Given the description of an element on the screen output the (x, y) to click on. 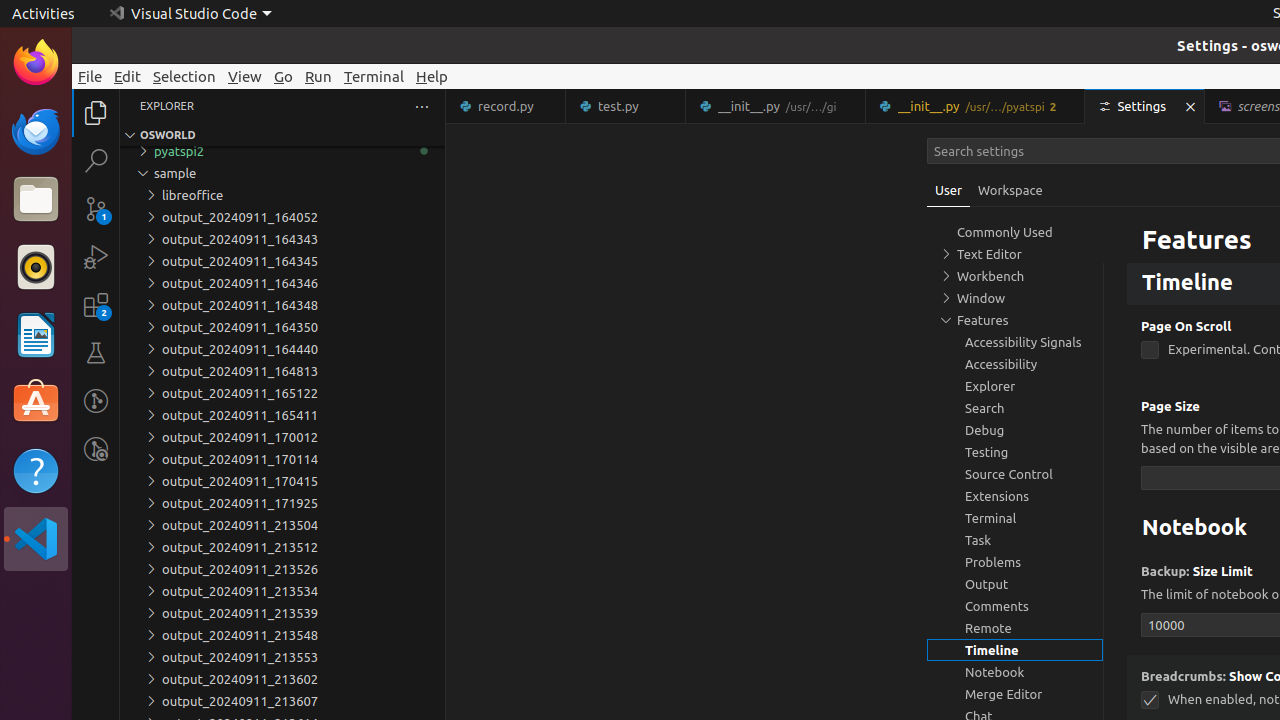
Accessibility Signals, group Element type: tree-item (1015, 342)
output_20240911_213602 Element type: tree-item (282, 679)
Source Control, group Element type: tree-item (1015, 474)
Task, group Element type: tree-item (1015, 540)
Output, group Element type: tree-item (1015, 584)
